Given the description of an element on the screen output the (x, y) to click on. 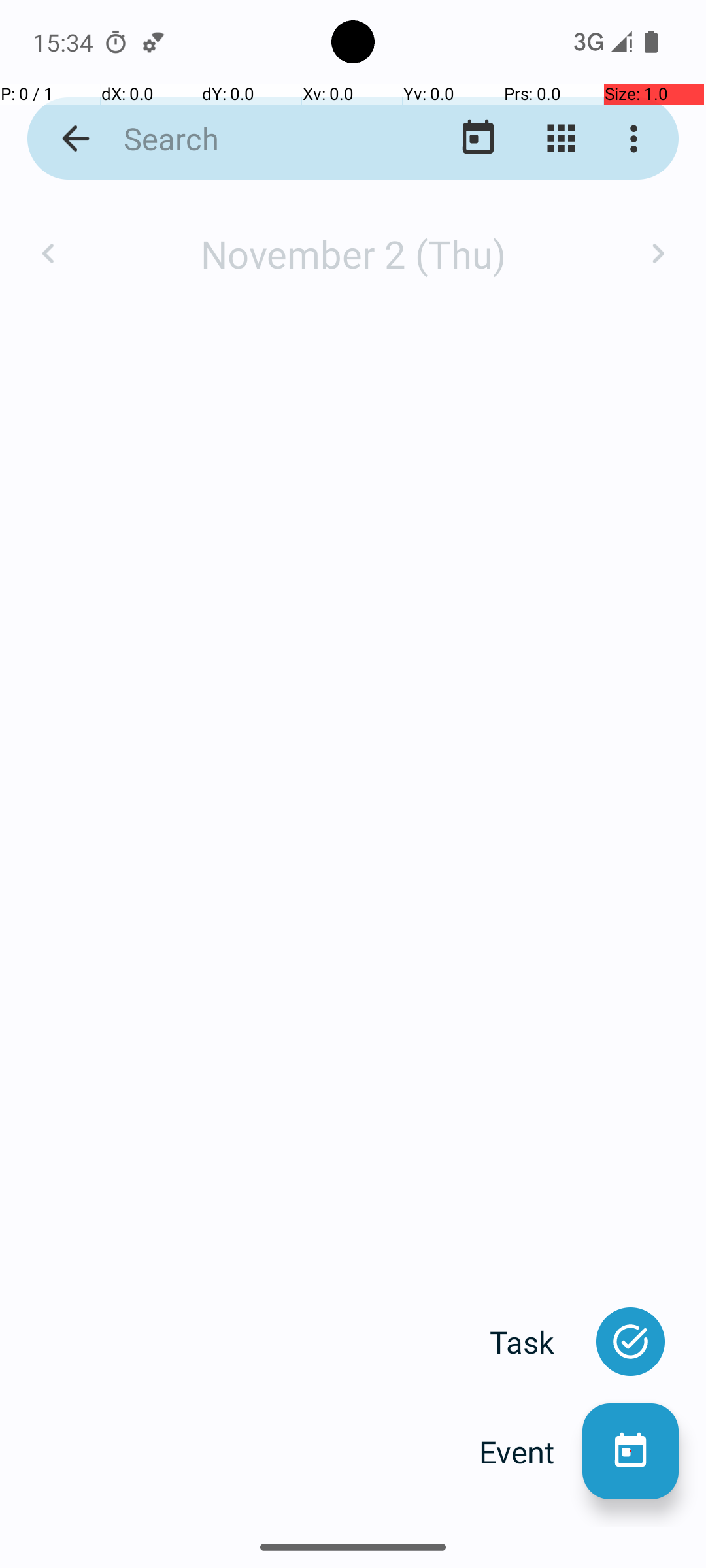
November 2 (Thu) Element type: android.widget.TextView (352, 253)
